Given the description of an element on the screen output the (x, y) to click on. 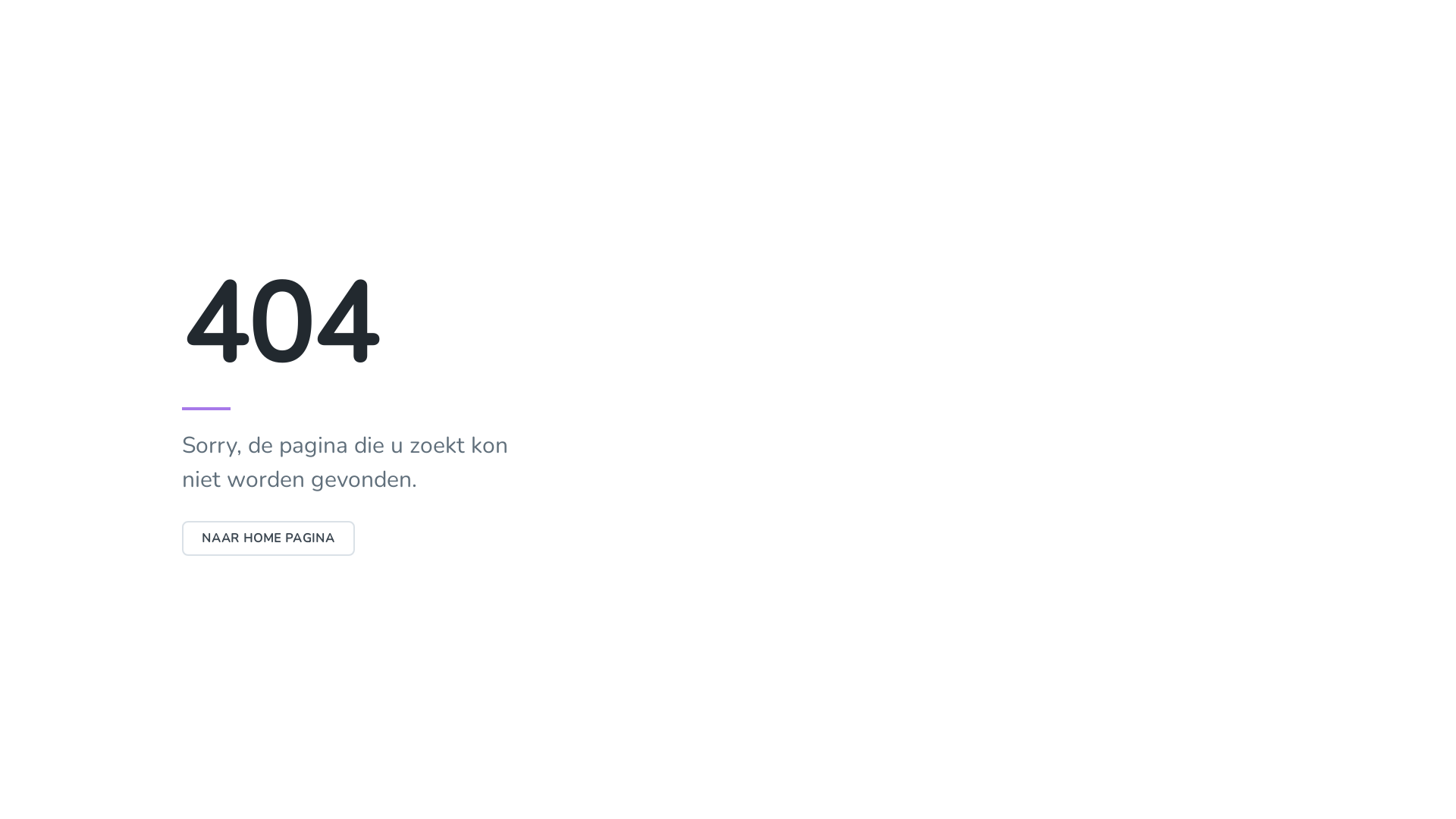
NAAR HOME PAGINA Element type: text (268, 537)
NAAR HOME PAGINA Element type: text (268, 538)
